Given the description of an element on the screen output the (x, y) to click on. 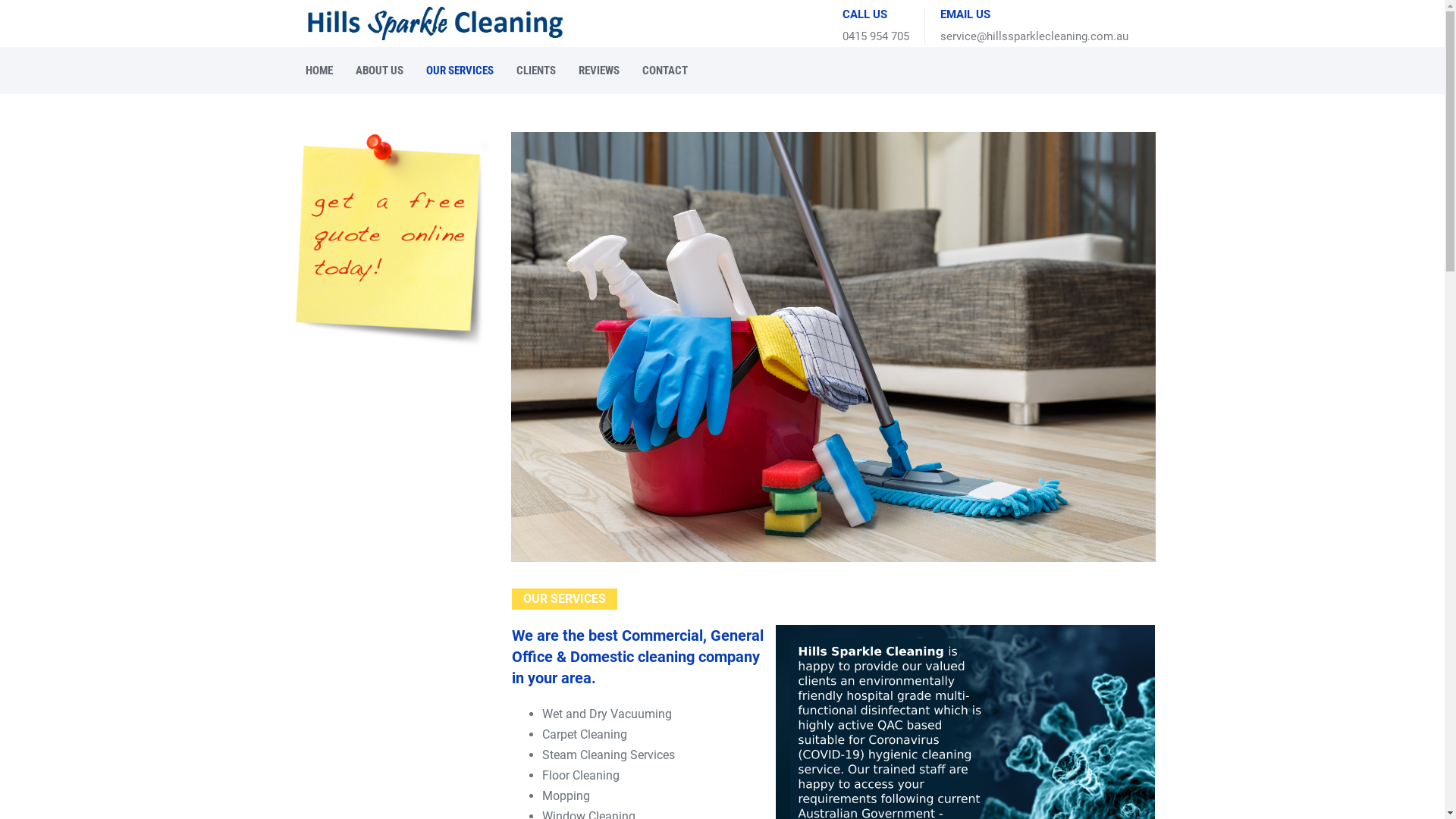
OUR SERVICES Element type: text (458, 70)
REVIEWS Element type: text (598, 70)
CLIENTS Element type: text (535, 70)
HOME Element type: text (318, 70)
ABOUT US Element type: text (379, 70)
CONTACT Element type: text (664, 70)
